Given the description of an element on the screen output the (x, y) to click on. 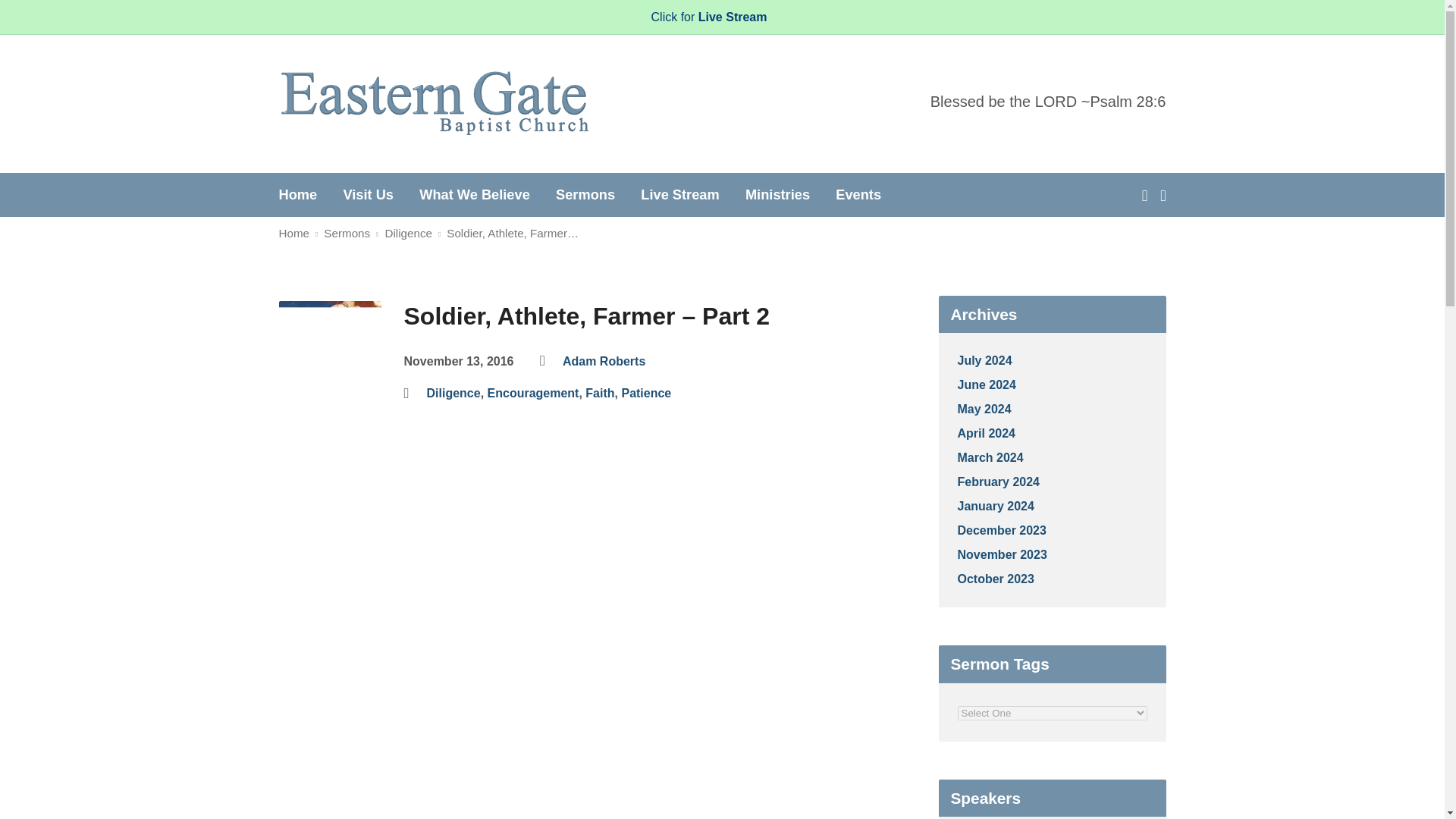
Patience (646, 392)
Live Stream (385, 14)
Adam Roberts (603, 360)
Diligence (407, 232)
Home (298, 194)
Faith (599, 392)
Home (294, 232)
Ministries (777, 194)
What We Believe (474, 194)
Live Stream (679, 194)
